Given the description of an element on the screen output the (x, y) to click on. 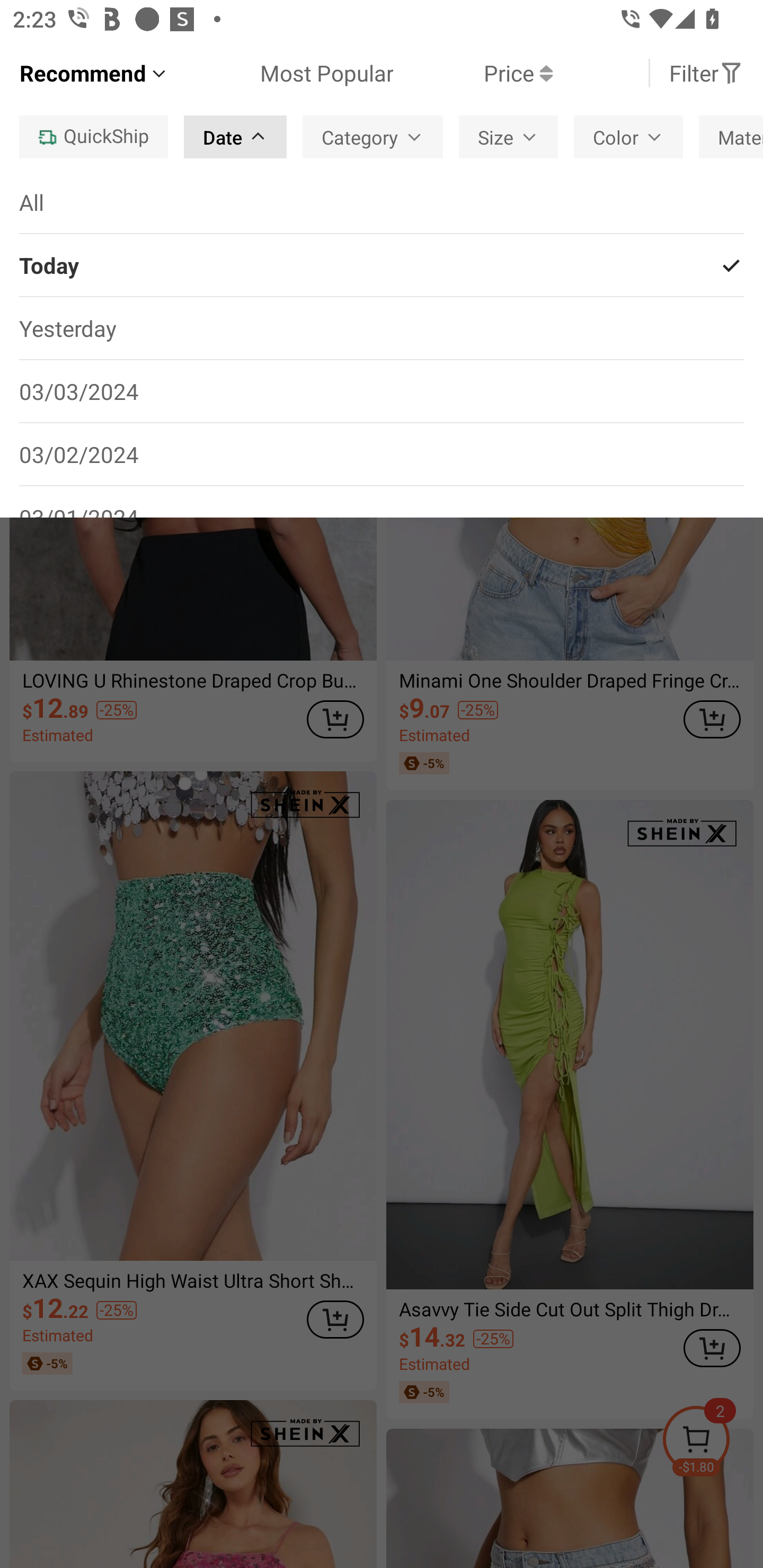
Recommend (94, 72)
Most Popular (280, 72)
Price (472, 72)
Filter (705, 72)
QuickShip (93, 137)
Date (234, 137)
Category (372, 137)
Size (507, 137)
Color (627, 137)
